Given the description of an element on the screen output the (x, y) to click on. 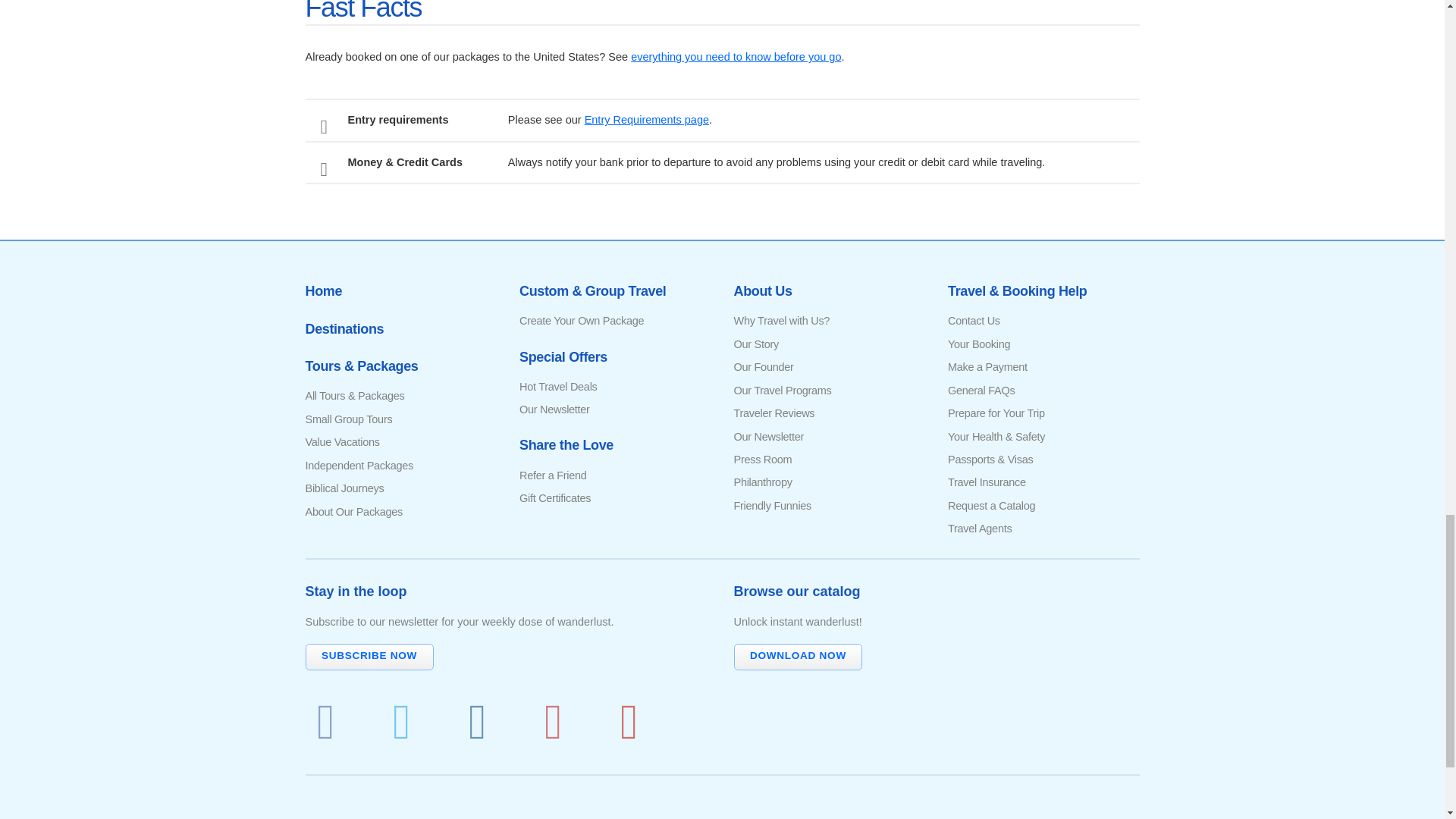
Friendly Planet on Pinterest (552, 717)
Friendly Planet on Facebook (325, 717)
Contact us (973, 320)
Friendly Planet on Twitter (401, 717)
Friendly Planet on Yelp (628, 717)
Friendly Planet on Instagram (477, 717)
